Given the description of an element on the screen output the (x, y) to click on. 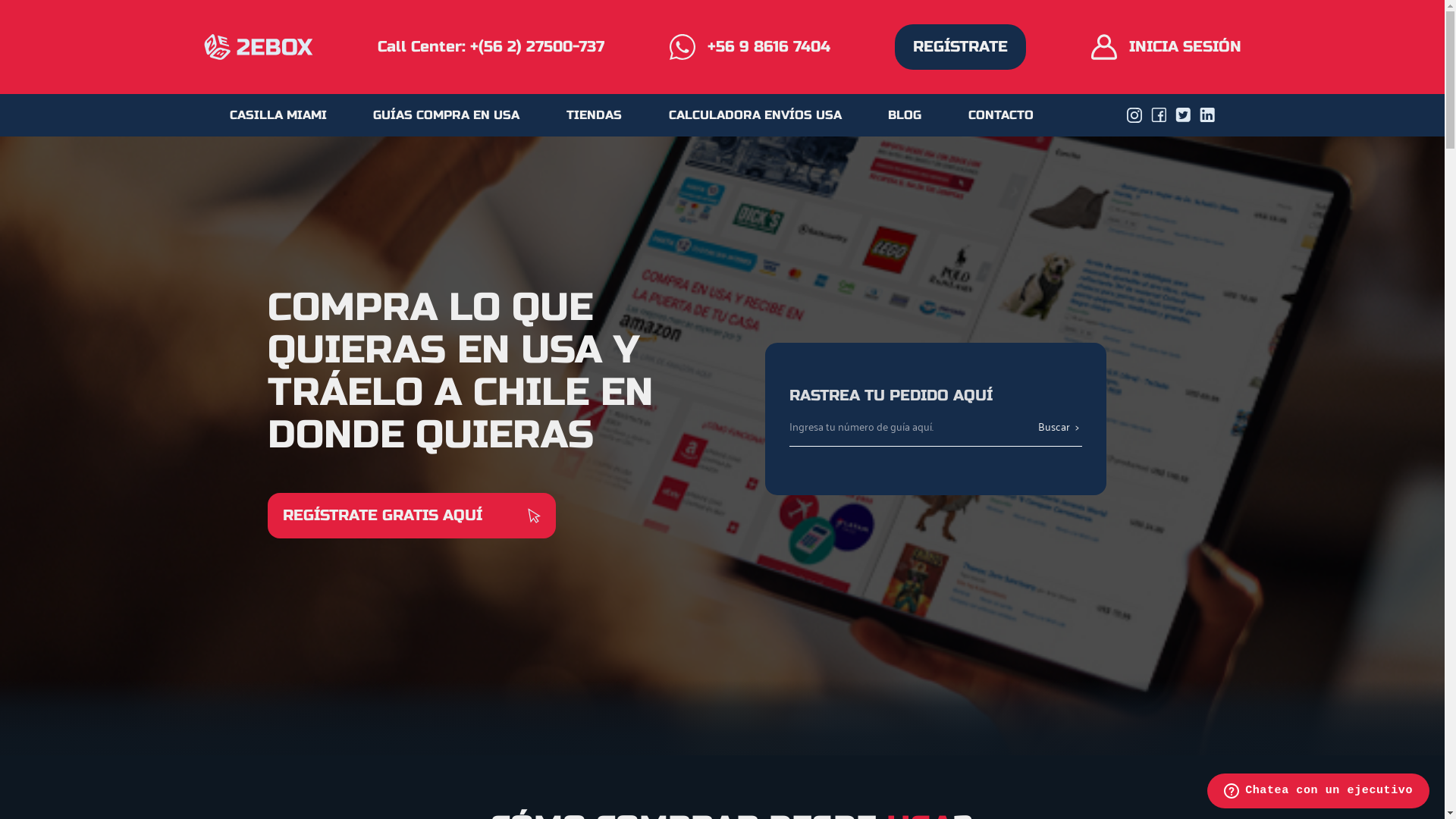
CONTACTO Element type: text (1000, 114)
TIENDAS Element type: text (593, 114)
twitter Element type: hover (1182, 114)
BLOG Element type: text (904, 114)
linkedin Element type: hover (1206, 114)
Opens a widget where you can find more information Element type: hover (1318, 792)
+(56 2) 27500-737 Element type: text (537, 46)
facebook Element type: hover (1158, 114)
Buscar > Element type: text (1059, 425)
+56 9 8616 7404 Element type: text (748, 46)
CASILLA MIAMI Element type: text (277, 114)
instagram Element type: hover (1134, 114)
